Given the description of an element on the screen output the (x, y) to click on. 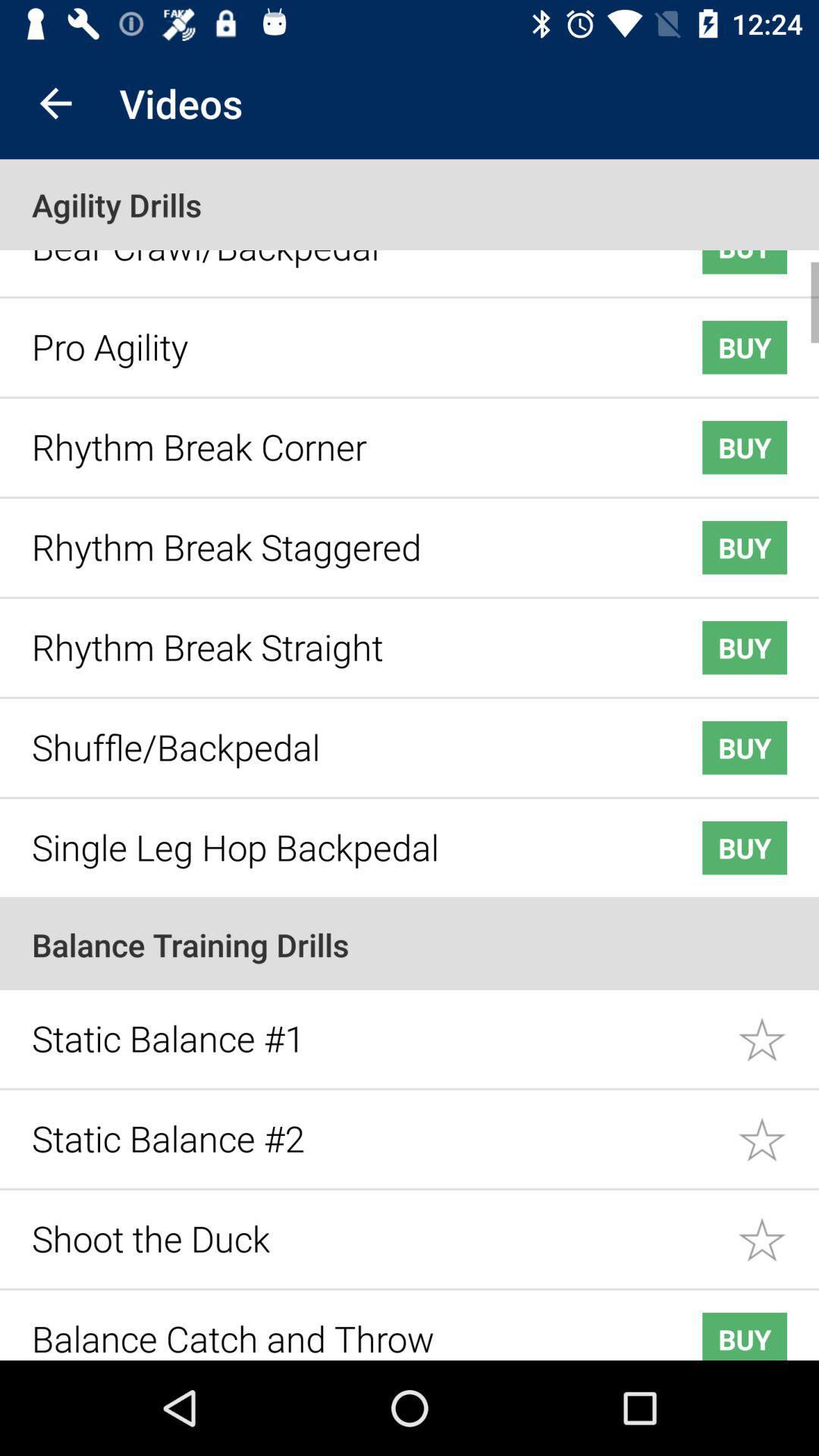
favorite static balance 1 (778, 1028)
